Given the description of an element on the screen output the (x, y) to click on. 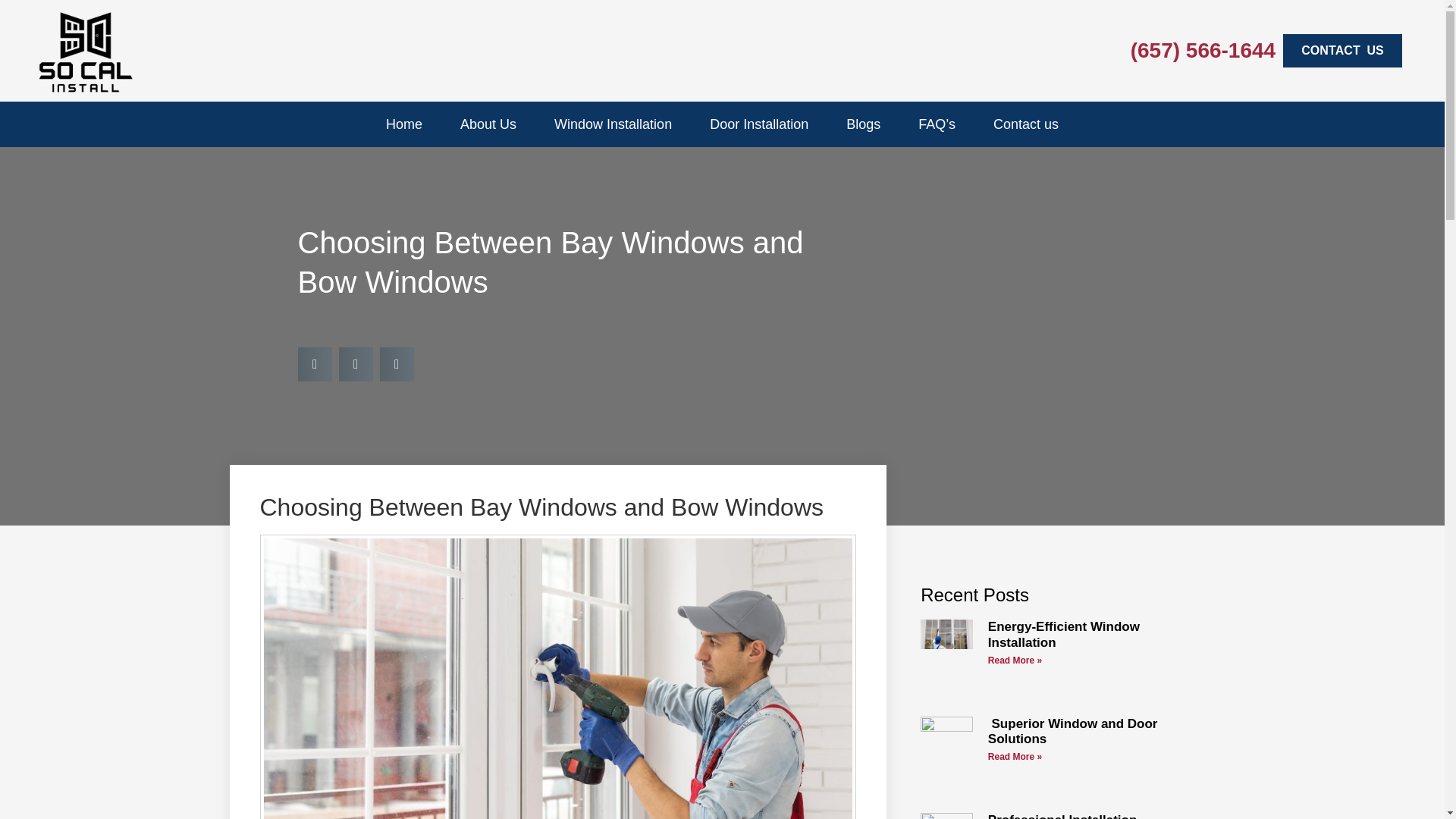
About Us (488, 123)
Window Installation (612, 123)
Blogs (863, 123)
Door Installation (759, 123)
Contact us (1026, 123)
Home (404, 123)
CONTACT US (1342, 50)
